Given the description of an element on the screen output the (x, y) to click on. 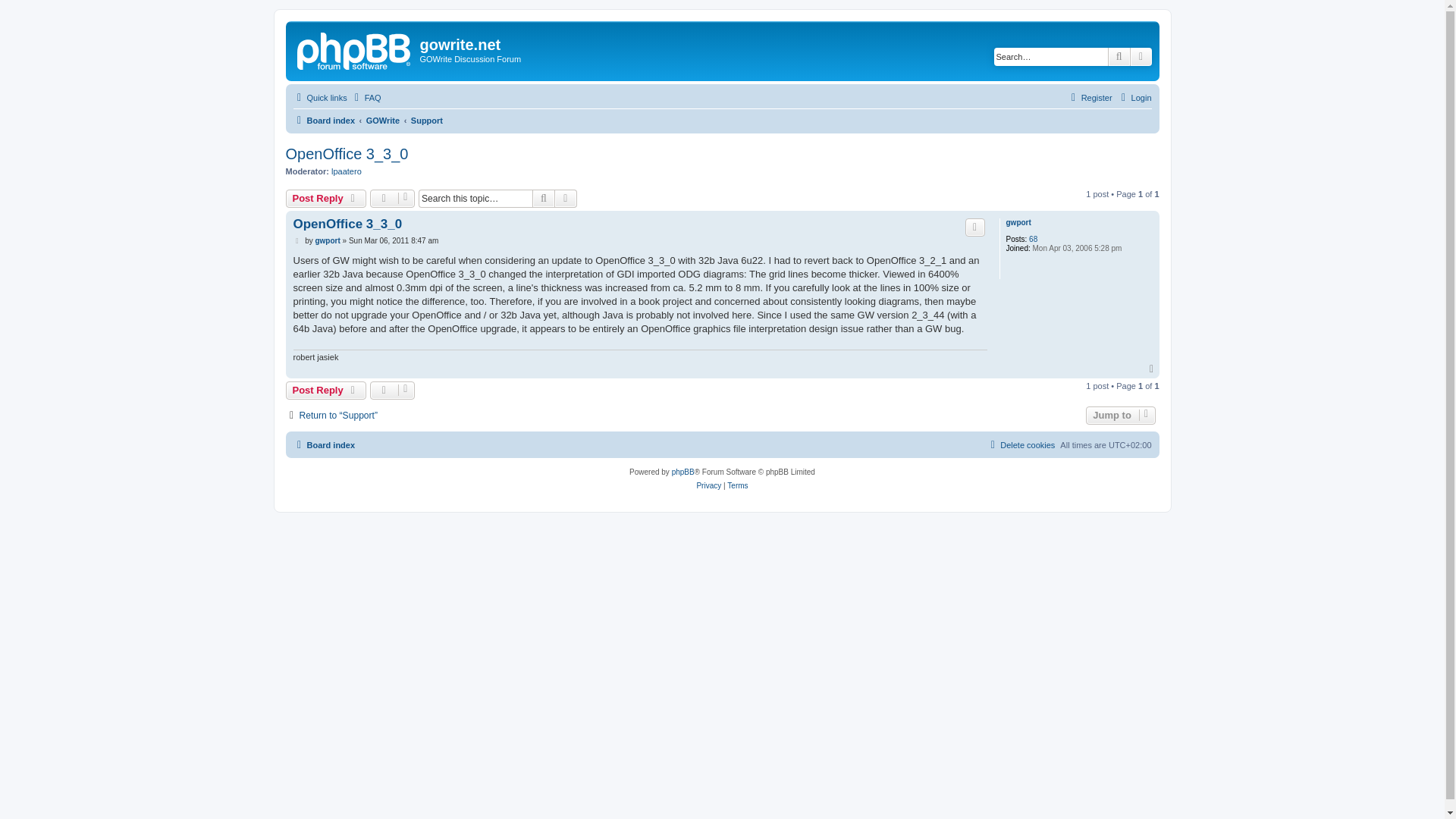
Topic tools (391, 198)
68 (1032, 239)
Top (1151, 368)
Post a reply (325, 198)
gwport (1018, 222)
lpaatero (346, 171)
Post (297, 240)
Post a reply (325, 390)
Register (1089, 97)
Reply with quote (975, 227)
